Given the description of an element on the screen output the (x, y) to click on. 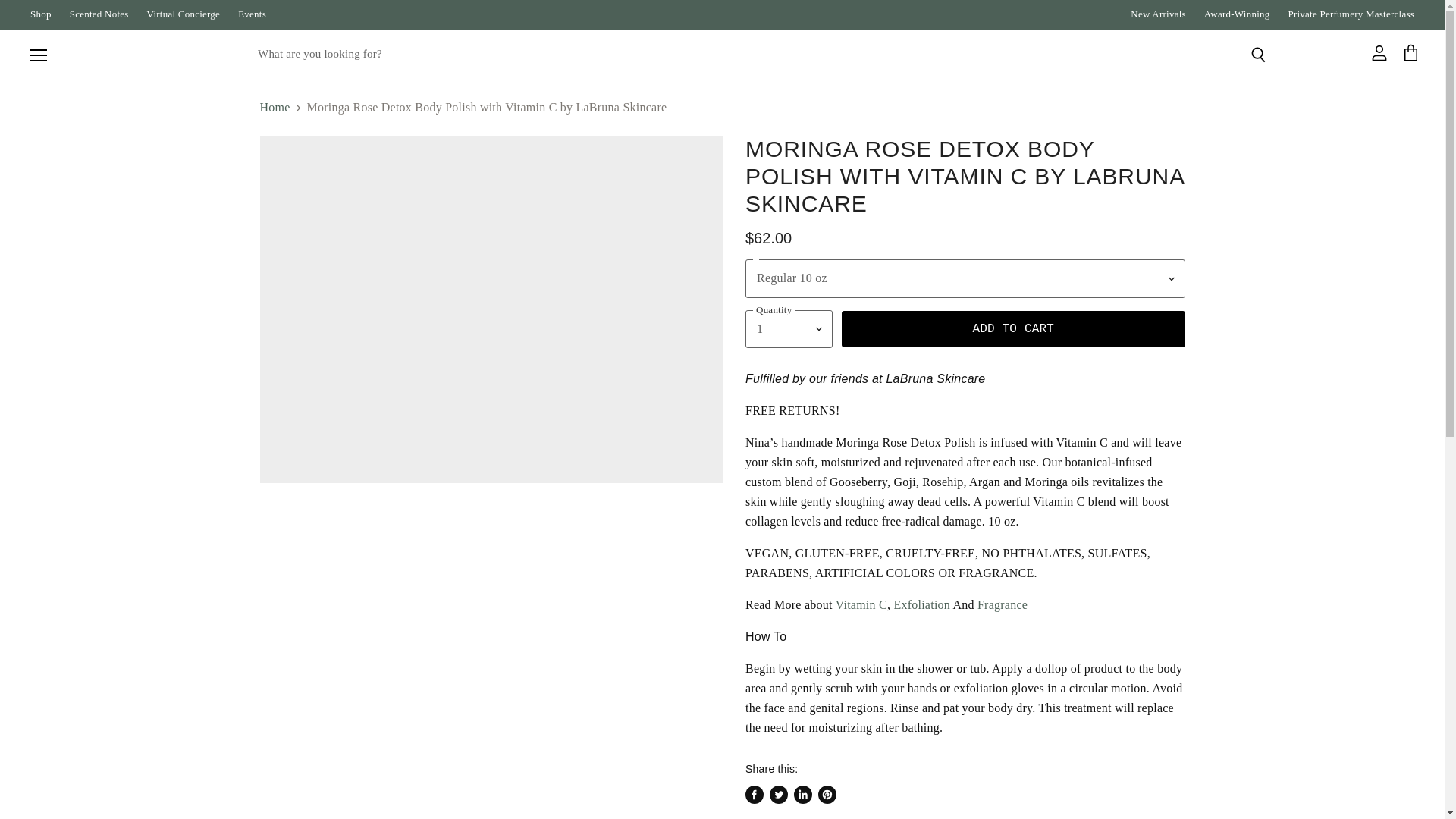
Menu (39, 54)
Award-Winning (1236, 14)
Virtual Concierge (184, 14)
Private Perfumery Masterclass (1350, 14)
New Arrivals (1158, 14)
Scented Notes (99, 14)
Shop (40, 14)
Events (252, 14)
